Given the description of an element on the screen output the (x, y) to click on. 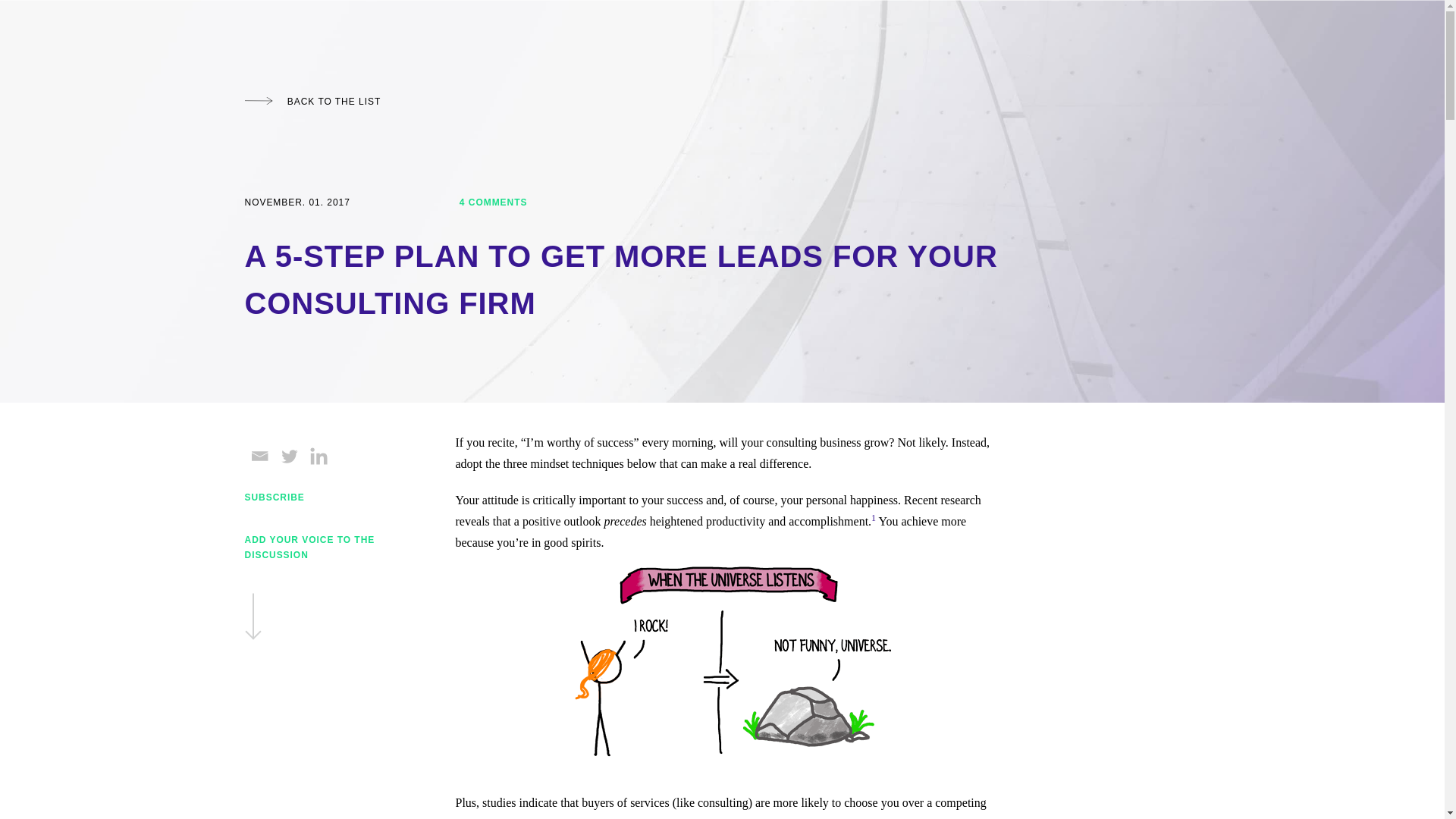
ADD YOUR VOICE TO THE DISCUSSION (316, 587)
Linkedin (317, 456)
Twitter (289, 456)
SUBSCRIBE (274, 497)
BACK TO THE LIST (312, 101)
ADD YOUR VOICE TO THE DISCUSSION (316, 587)
Email (259, 456)
